Given the description of an element on the screen output the (x, y) to click on. 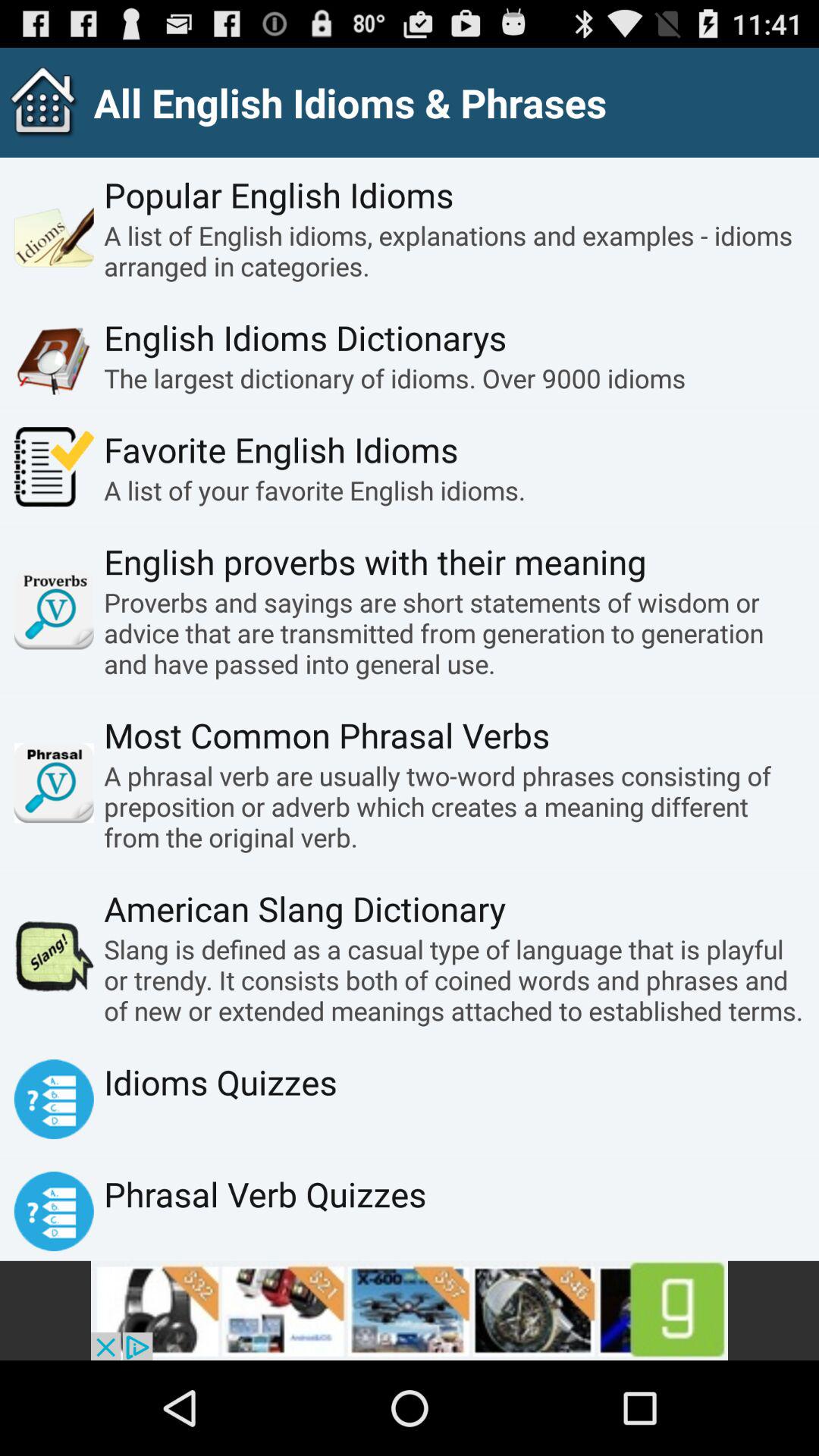
advertisement banner (409, 1310)
